Given the description of an element on the screen output the (x, y) to click on. 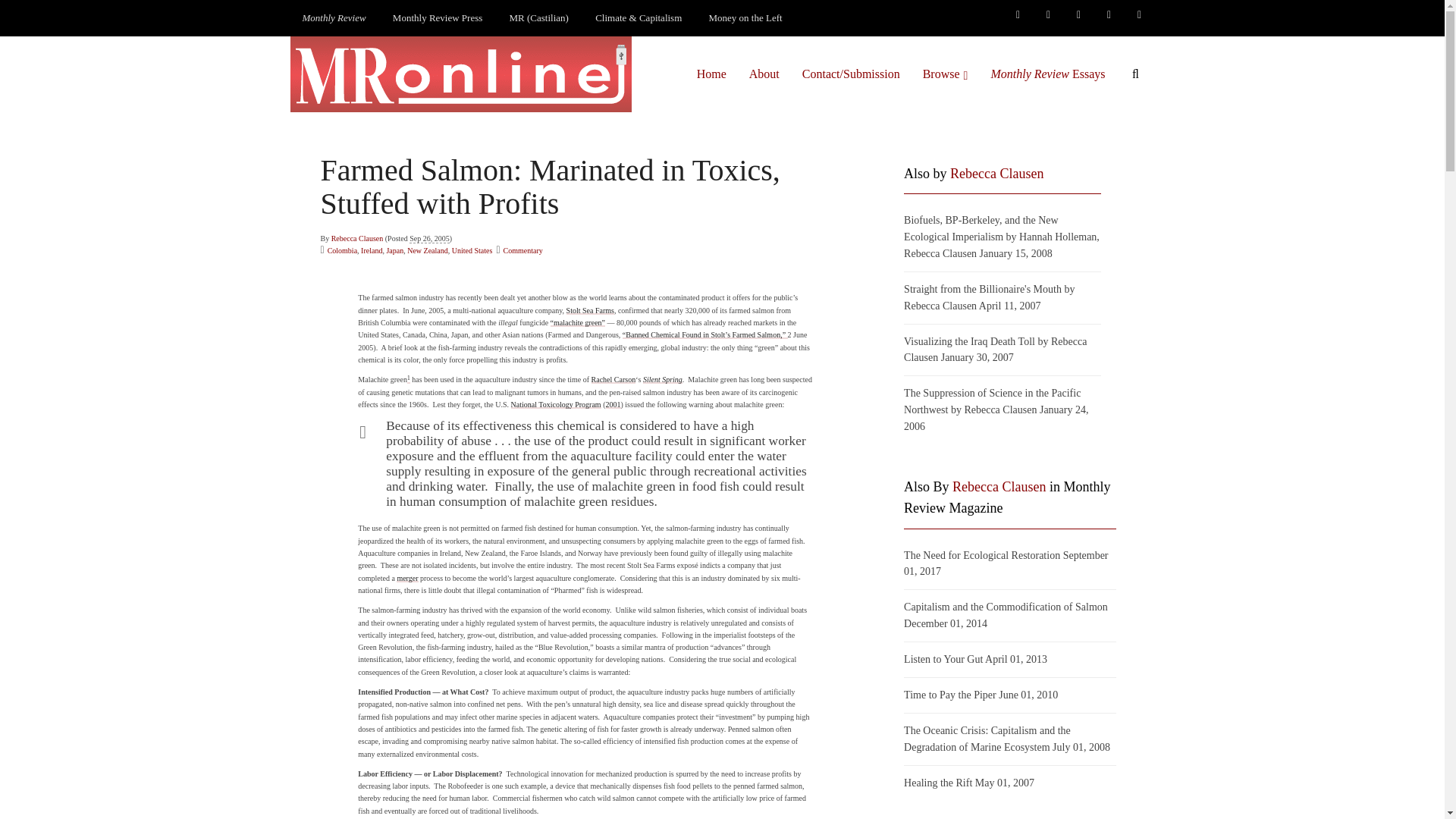
Monthly Review Magazine (333, 18)
Money on the Left (745, 18)
Monthly Review (333, 18)
Browse (945, 74)
Monthly Review Press (437, 18)
